Given the description of an element on the screen output the (x, y) to click on. 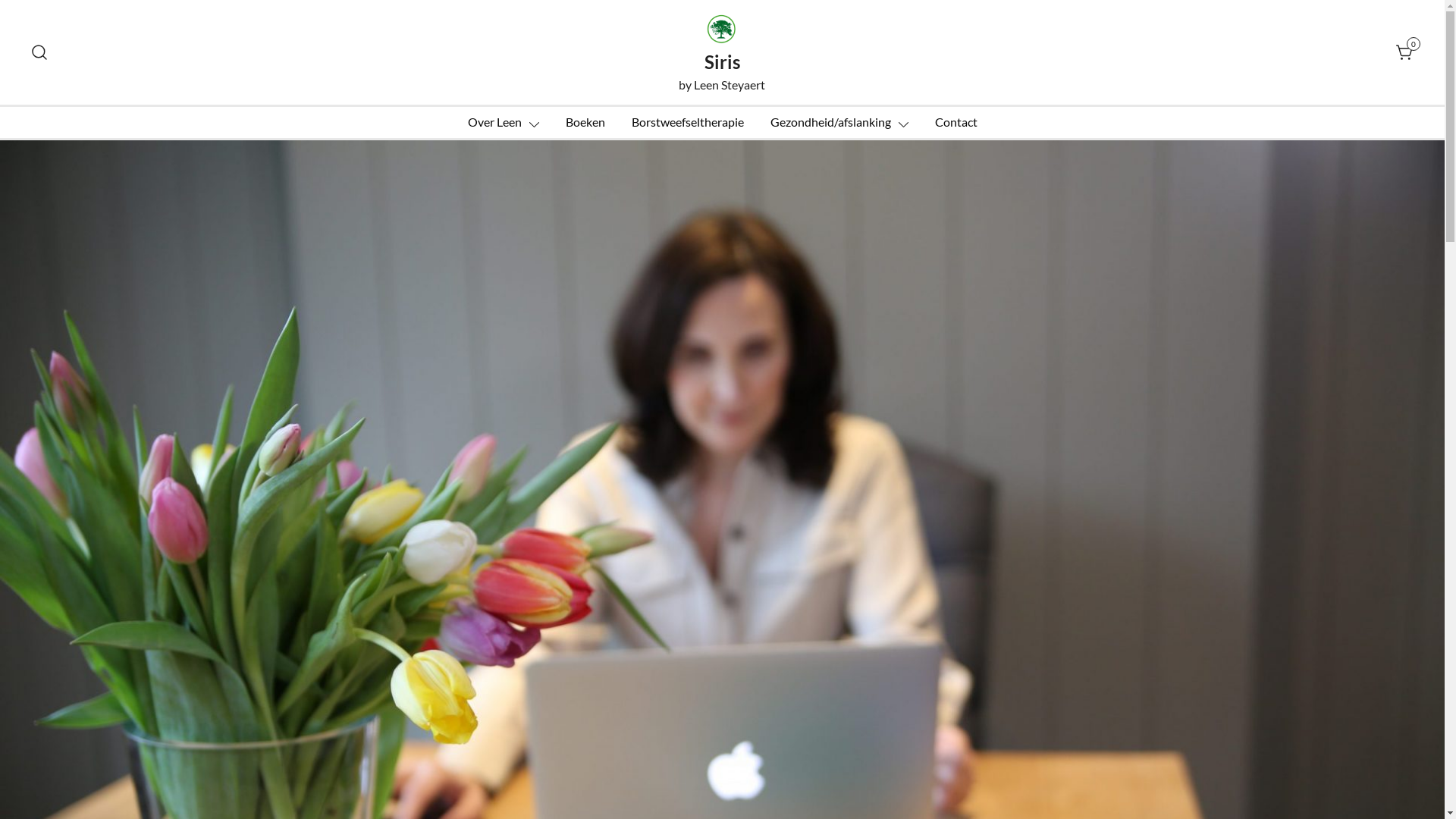
Borstweefseltherapie Element type: text (686, 121)
Siris Element type: text (722, 61)
Contact Element type: text (955, 121)
Boeken Element type: text (585, 121)
Over Leen Element type: text (493, 121)
Gezondheid/afslanking Element type: text (830, 121)
0 Element type: text (1405, 50)
